Given the description of an element on the screen output the (x, y) to click on. 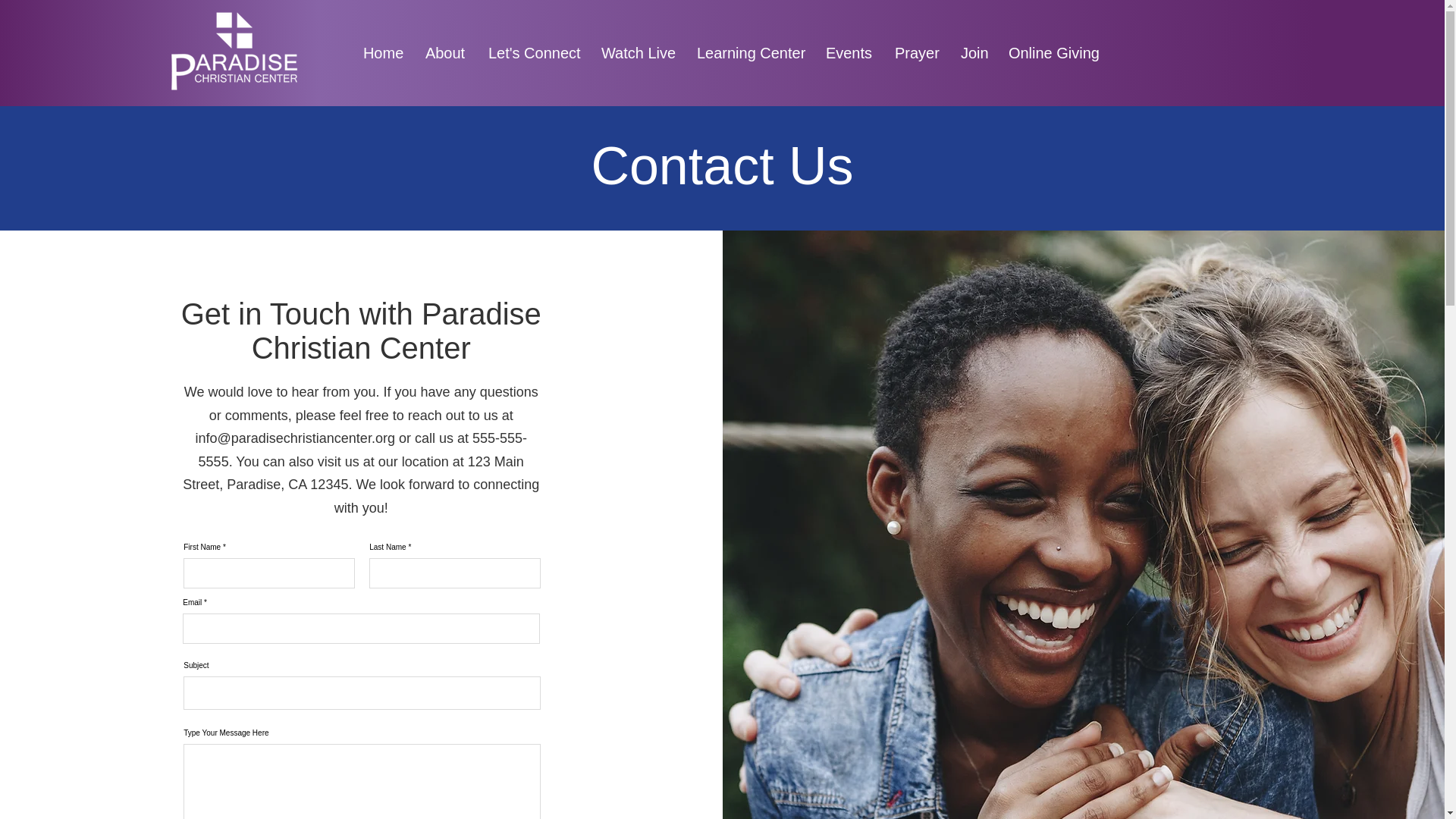
Learning Center (749, 52)
Prayer (916, 52)
Join (975, 52)
Online Giving (1053, 52)
Home (382, 52)
Watch Live (637, 52)
Let's Connect (533, 52)
Events (848, 52)
About (445, 52)
